Given the description of an element on the screen output the (x, y) to click on. 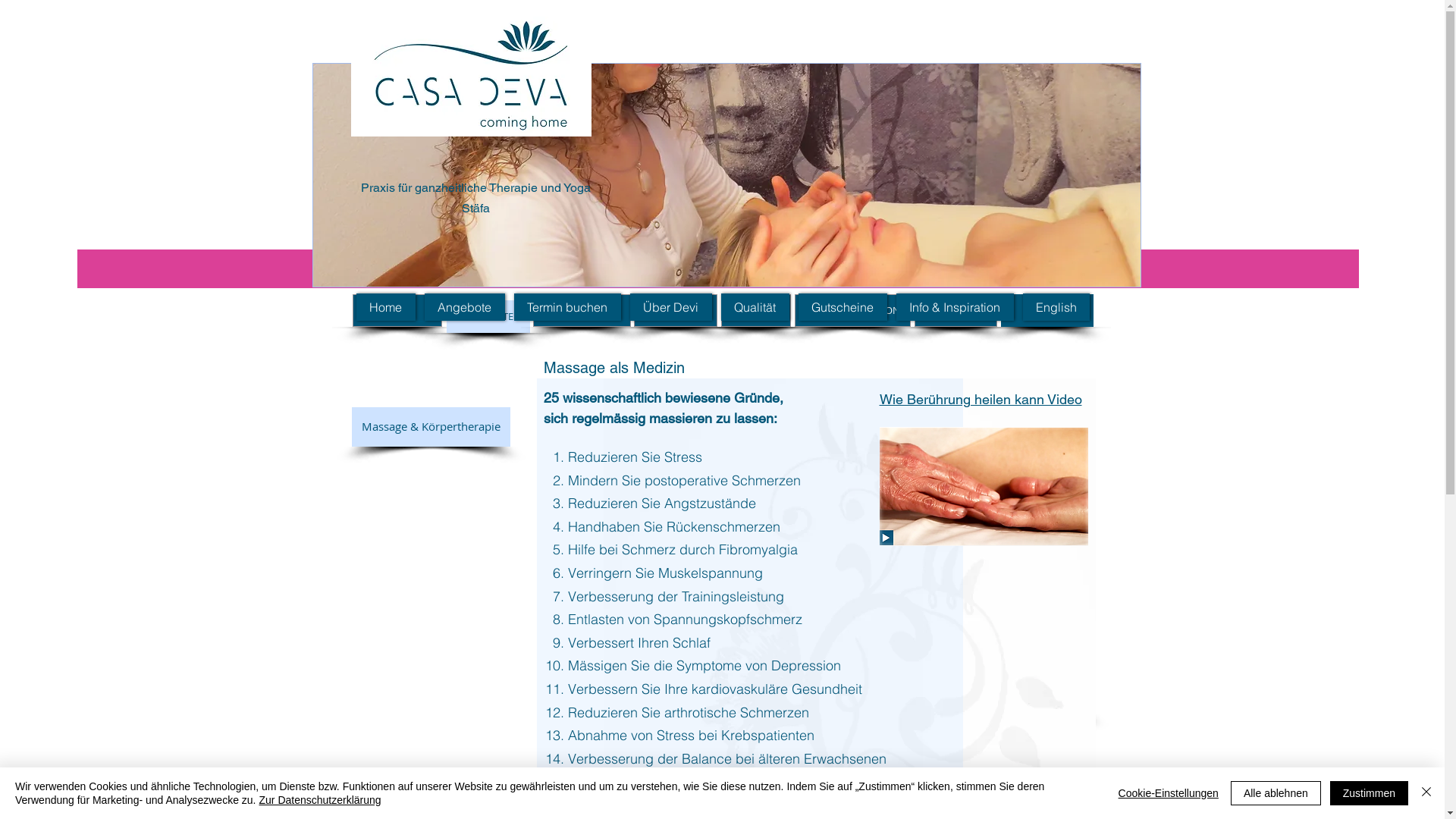
REFERENZEN Element type: text (955, 310)
Alle ablehnen Element type: text (1275, 793)
Info & Inspiration Element type: text (954, 306)
KONTAKT Element type: text (581, 310)
Gutscheine Element type: text (841, 306)
SHOP Element type: text (1047, 310)
Termin buchen Element type: text (567, 306)
AKTUELLES Element type: text (675, 310)
IMG_2280.JPG Element type: hover (726, 174)
Hier klicken Element type: text (896, 267)
English Element type: text (1055, 306)
Angebote Element type: text (464, 306)
ANGEBOTE Element type: text (487, 316)
Zustimmen Element type: text (1369, 793)
HOME Element type: text (396, 310)
INFO & INSPIRATION Element type: text (852, 310)
Embedded Content Element type: hover (999, 61)
Home Element type: text (385, 306)
